Given the description of an element on the screen output the (x, y) to click on. 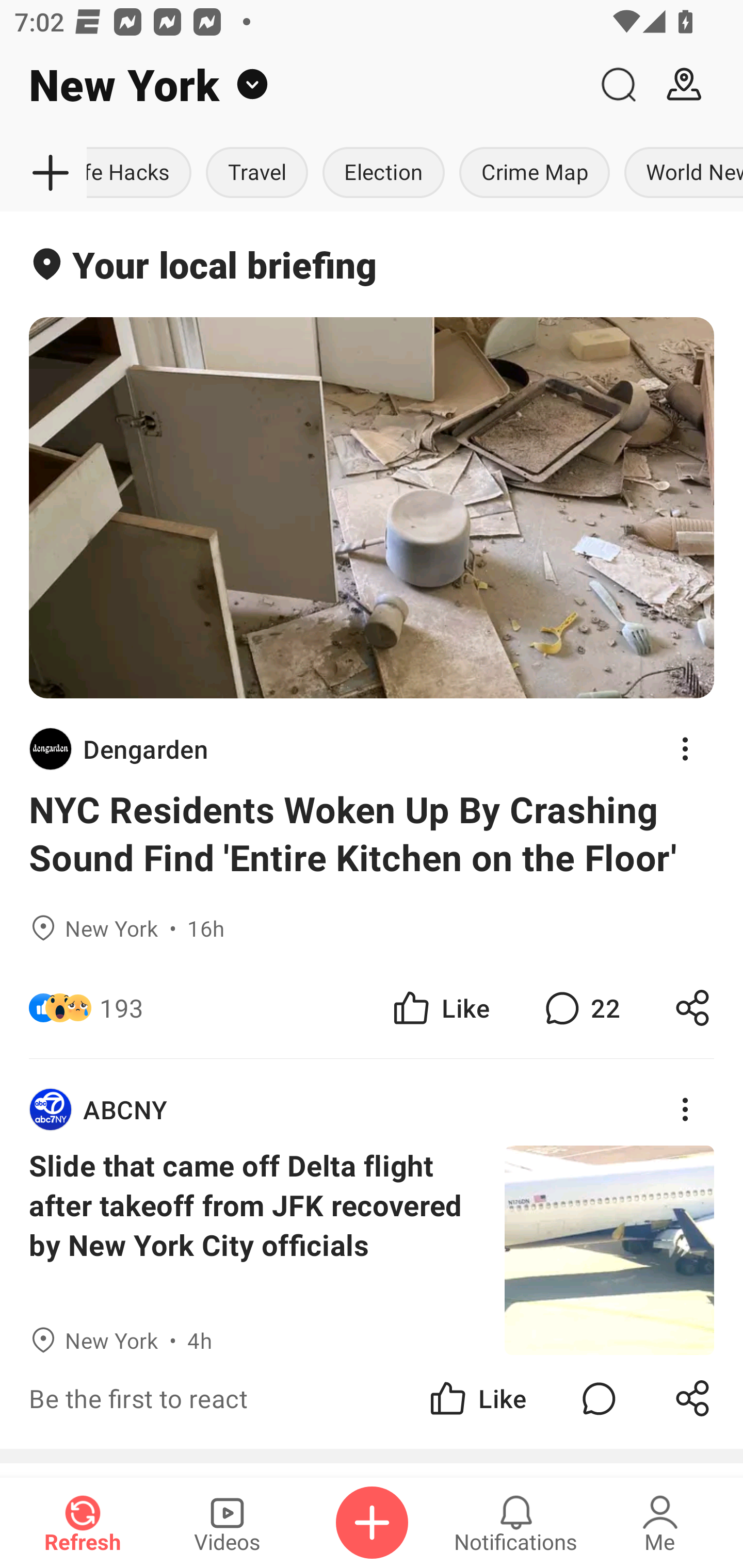
New York (292, 84)
Life Hacks (142, 172)
Travel (256, 172)
Election (383, 172)
Crime Map (534, 172)
World News (680, 172)
193 (121, 1007)
Like (439, 1007)
22 (579, 1007)
Be the first to react (244, 1397)
Like (476, 1397)
Videos (227, 1522)
Notifications (516, 1522)
Me (659, 1522)
